Given the description of an element on the screen output the (x, y) to click on. 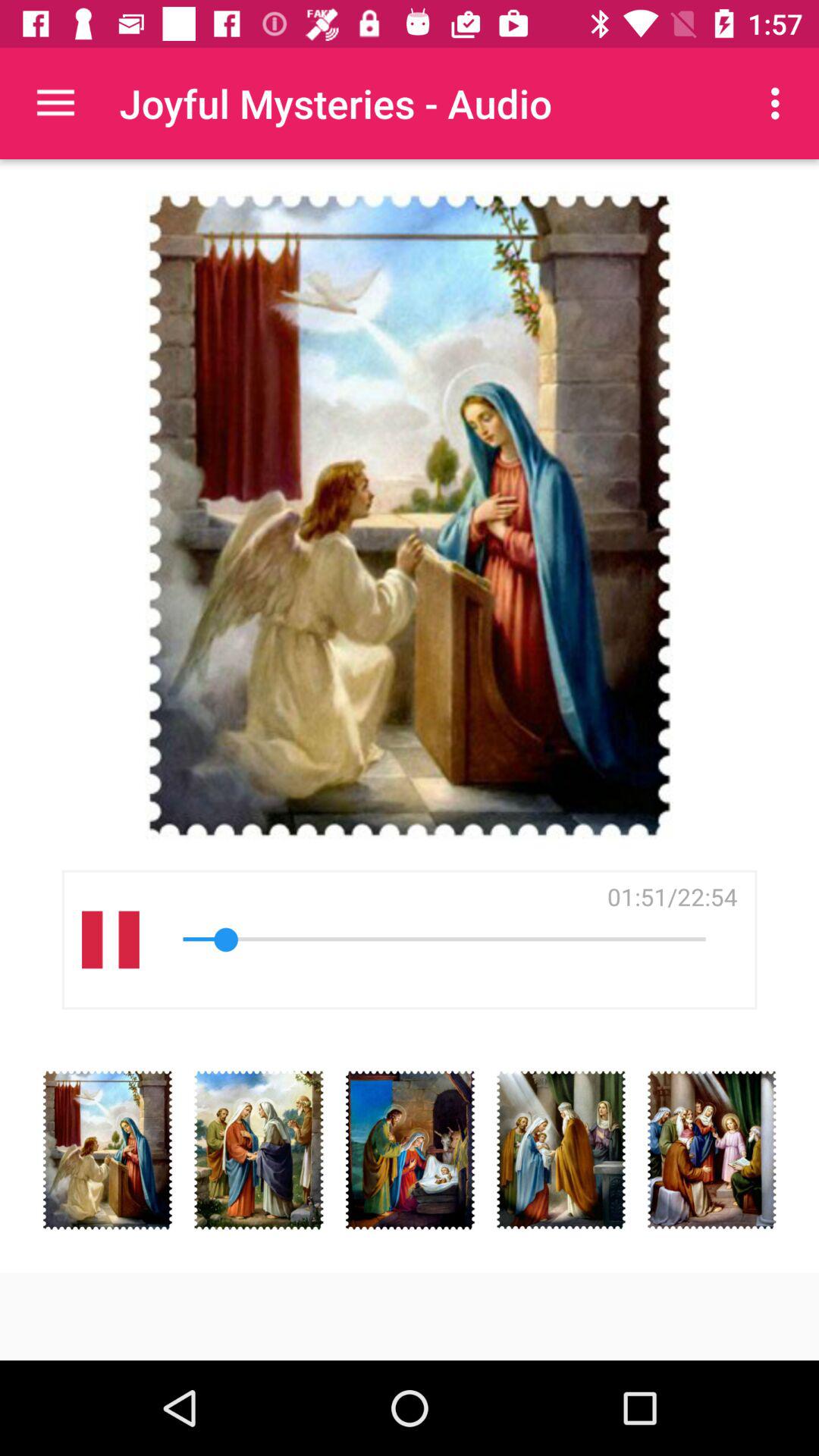
flip until the 01 52 22 icon (672, 896)
